Given the description of an element on the screen output the (x, y) to click on. 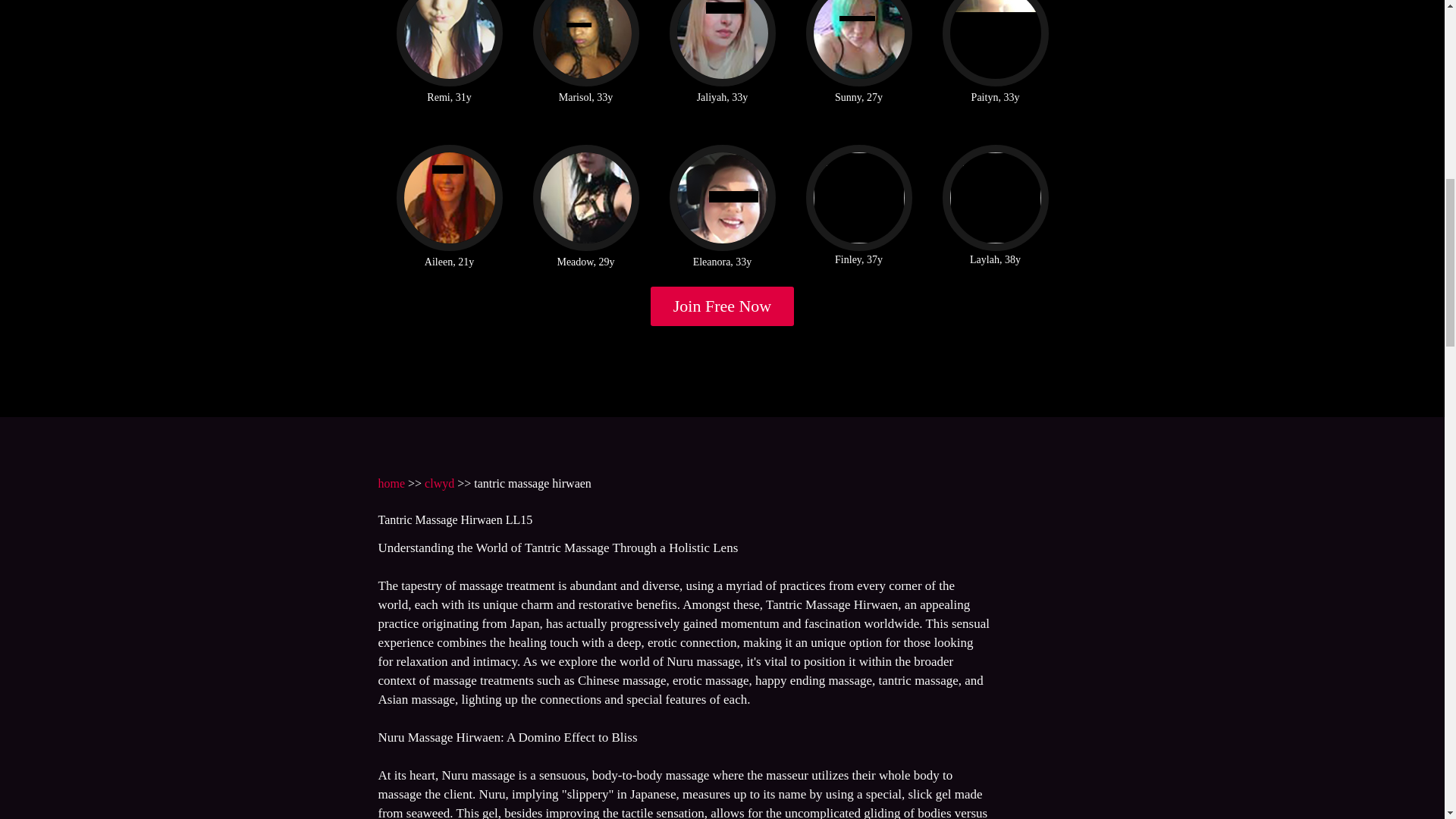
home (390, 482)
clwyd (439, 482)
Join Free Now (722, 305)
Join (722, 305)
